Given the description of an element on the screen output the (x, y) to click on. 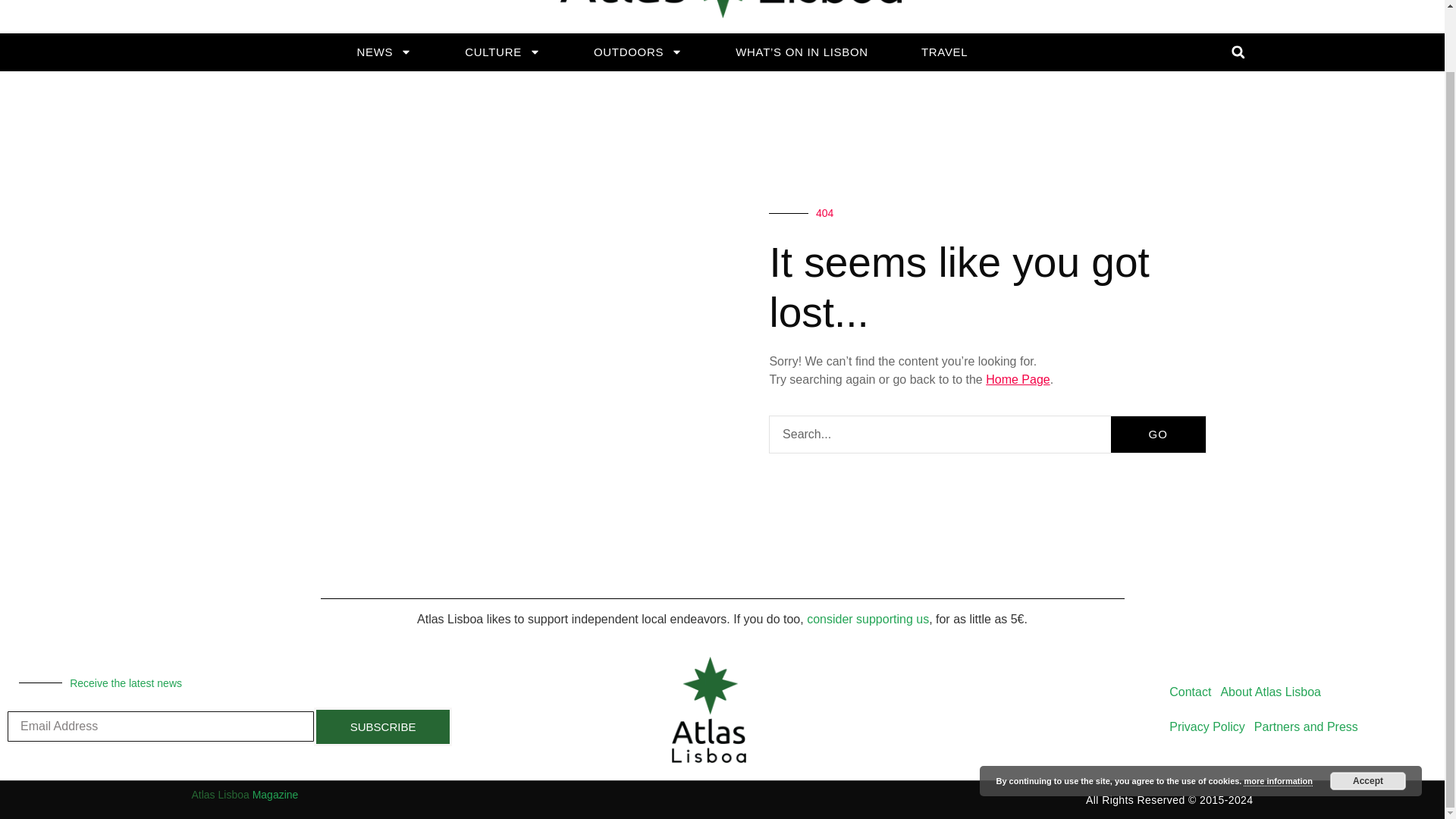
Contact (1189, 692)
About Atlas Lisboa (1269, 692)
SUBSCRIBE (382, 726)
NEWS (383, 52)
consider supporting us (867, 618)
GO (1157, 434)
OUTDOORS (637, 52)
CULTURE (502, 52)
Privacy Policy (1206, 727)
TRAVEL (944, 52)
